Given the description of an element on the screen output the (x, y) to click on. 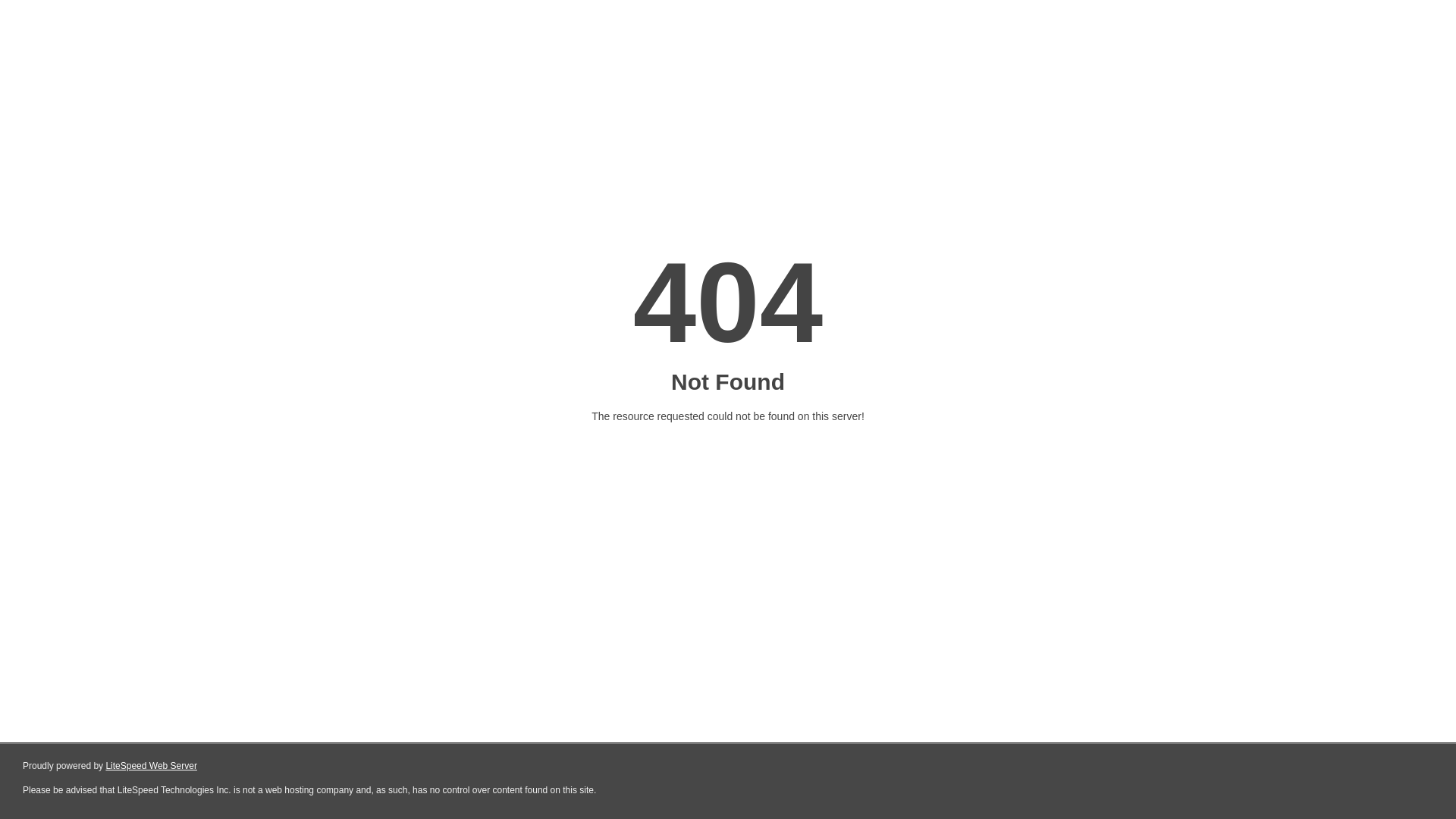
LiteSpeed Web Server Element type: text (151, 765)
